Given the description of an element on the screen output the (x, y) to click on. 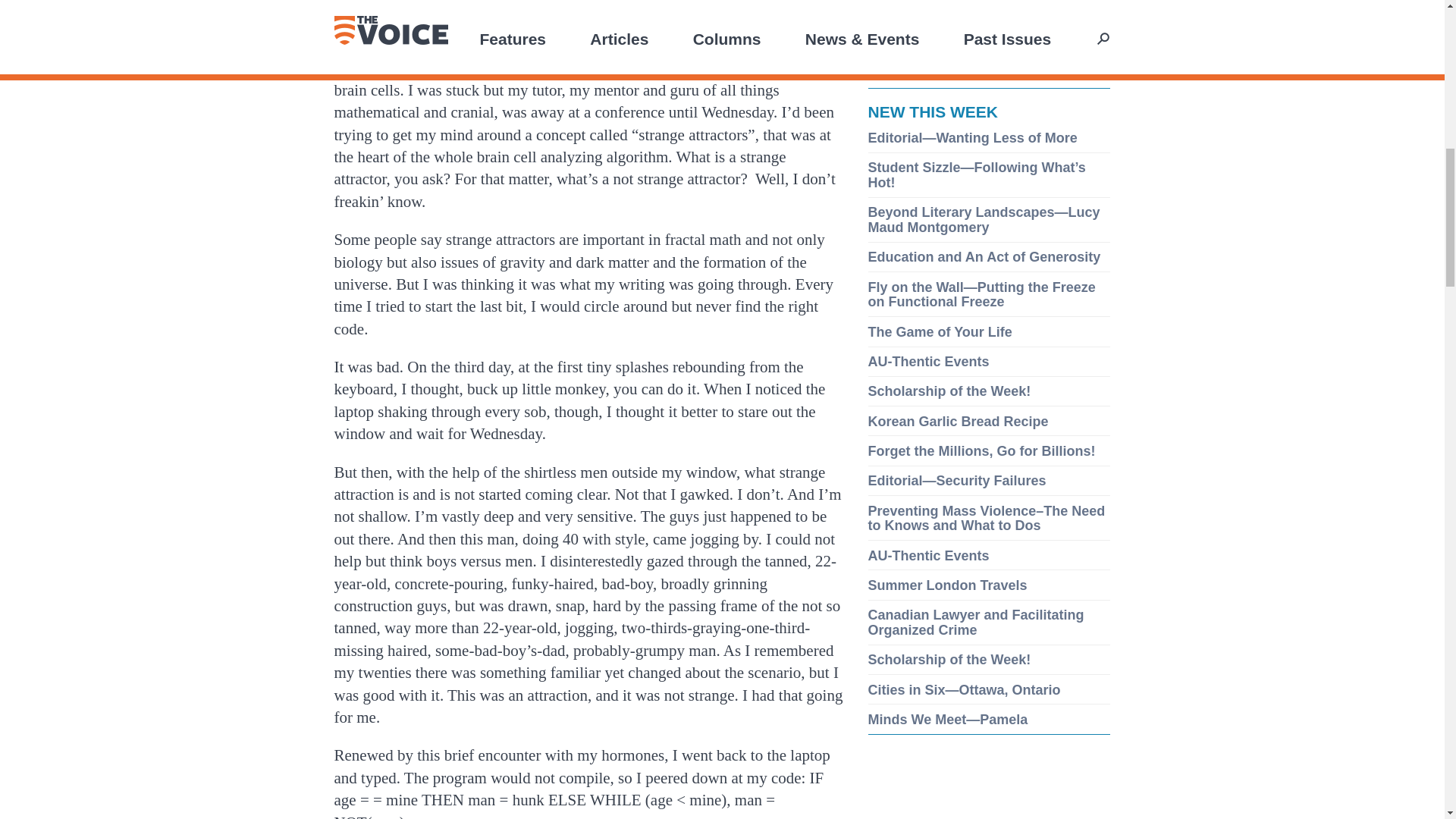
Education and An Act of Generosity (983, 256)
